Given the description of an element on the screen output the (x, y) to click on. 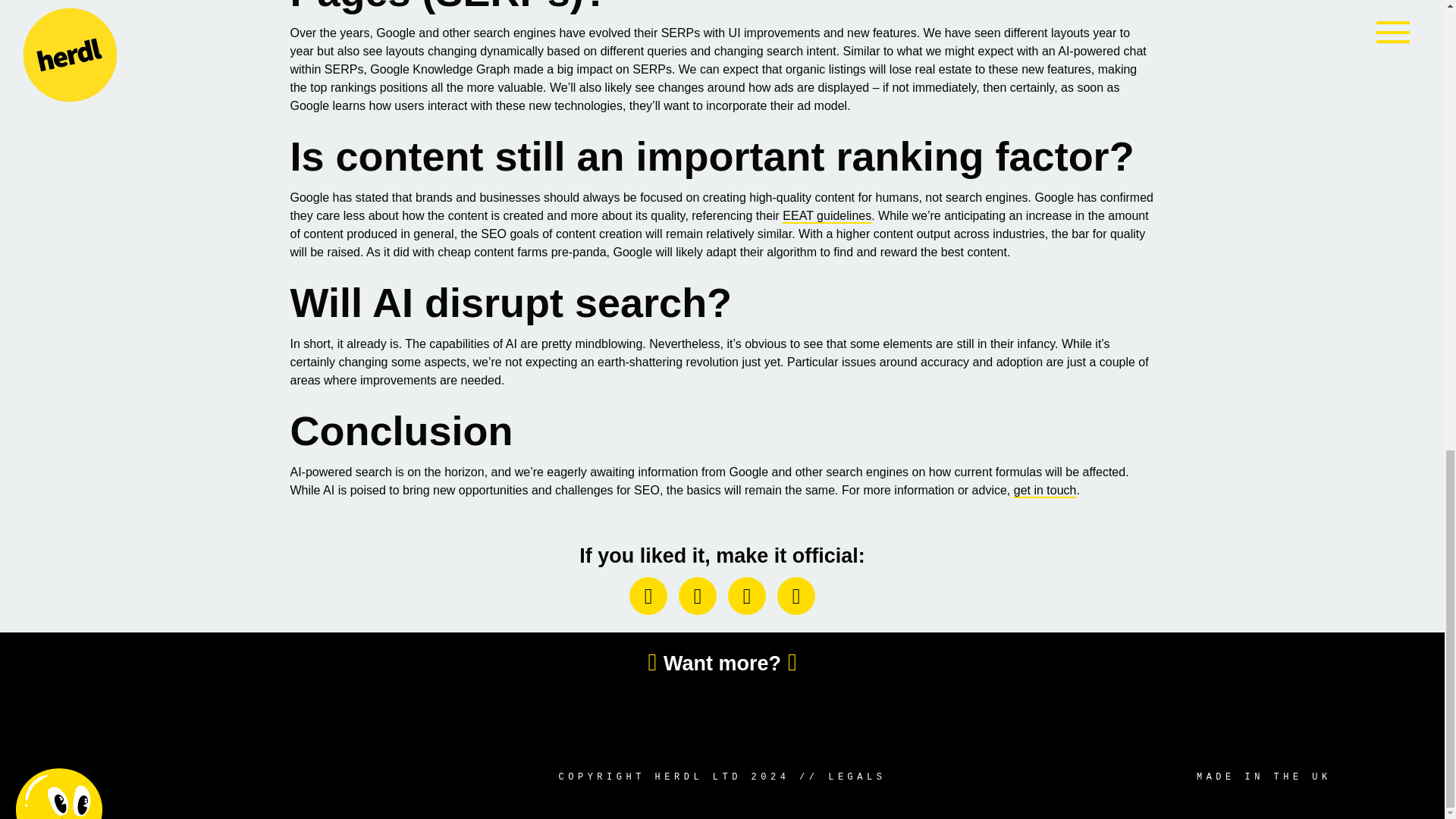
get in touch (1045, 490)
EEAT guidelines (826, 216)
LEGALS (856, 777)
